Given the description of an element on the screen output the (x, y) to click on. 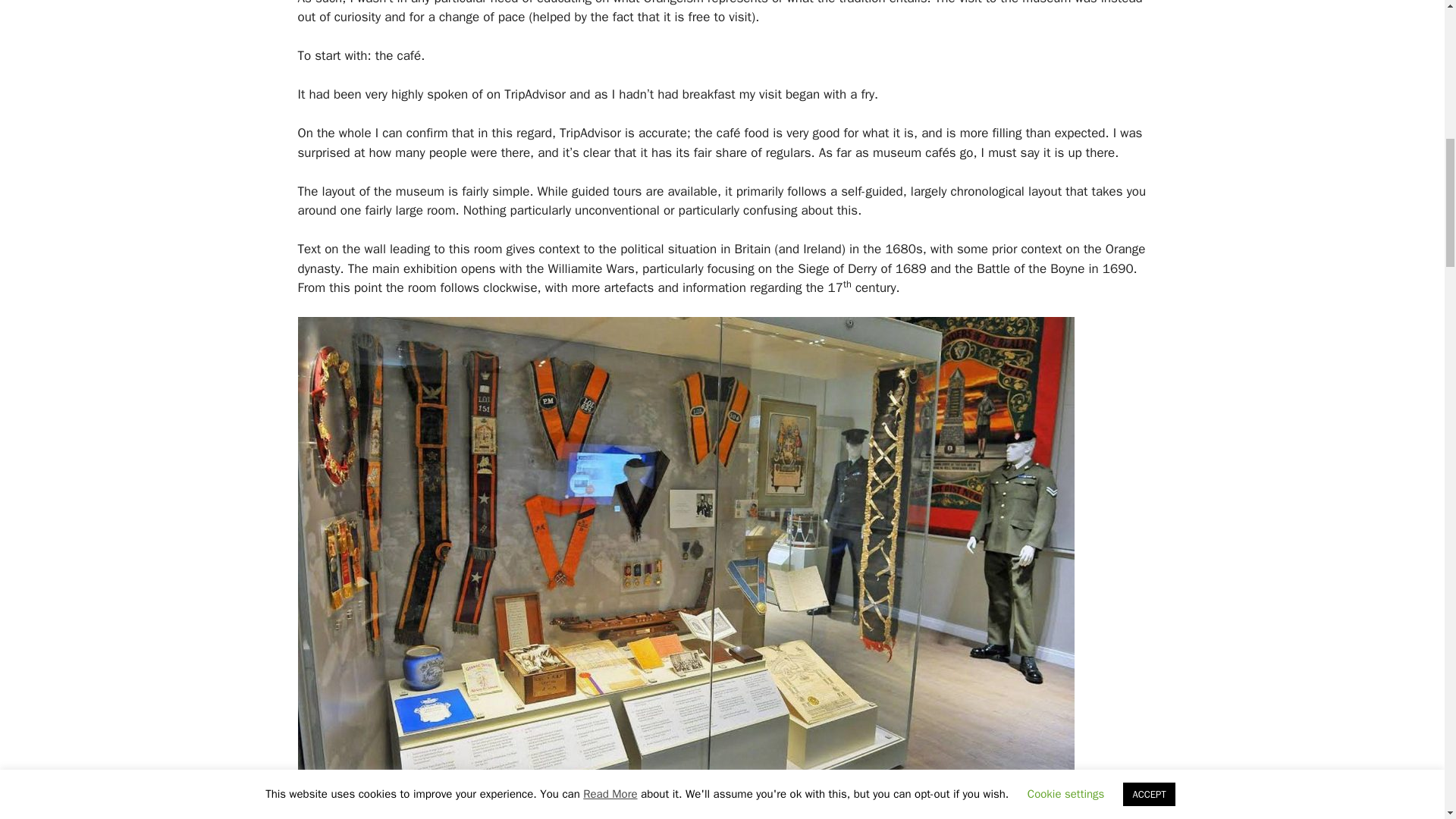
Scroll back to top (1406, 720)
